Given the description of an element on the screen output the (x, y) to click on. 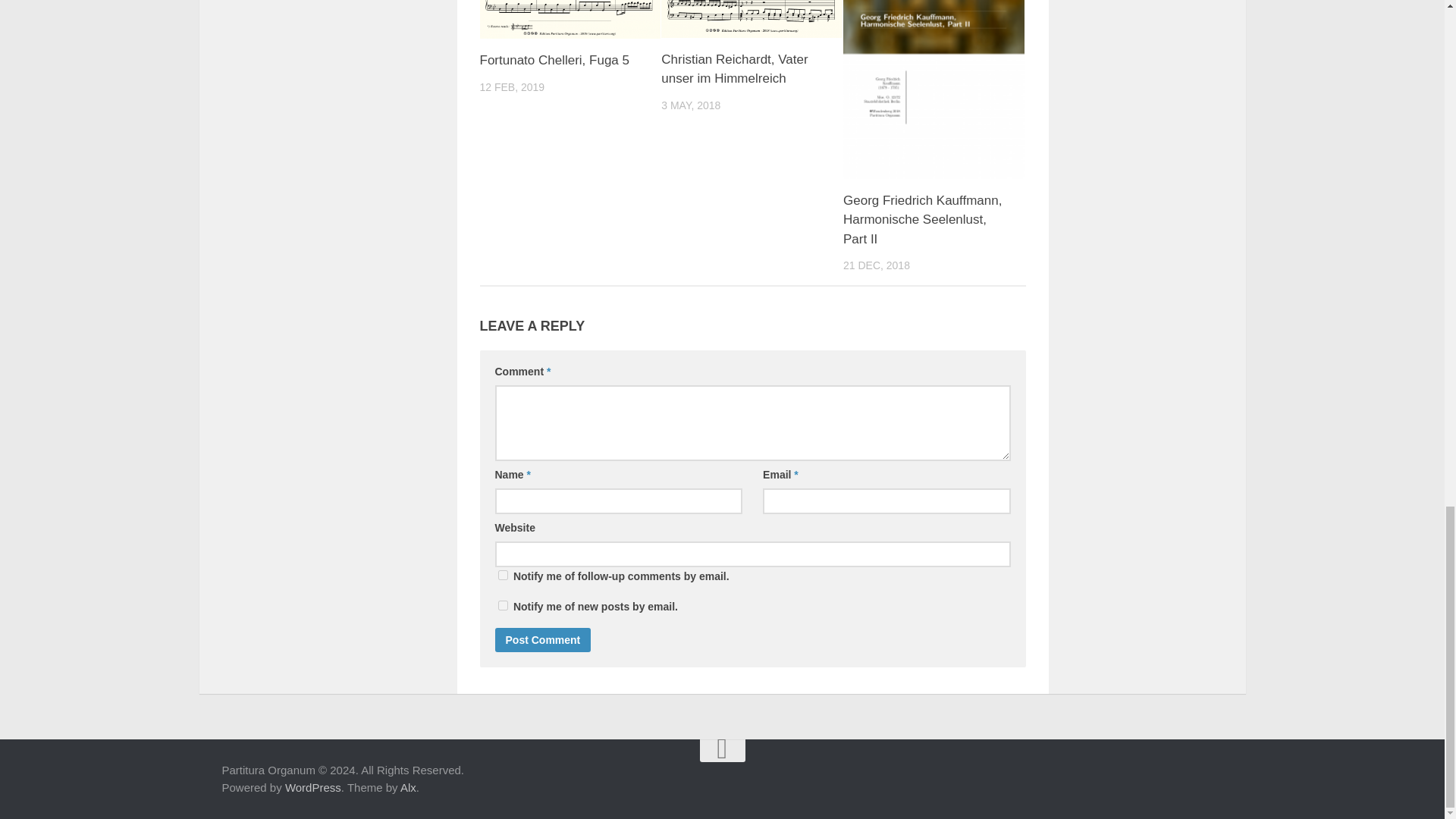
Alx (408, 787)
subscribe (501, 574)
Georg Friedrich Kauffmann, Harmonische Seelenlust, Part II (922, 219)
Fortunato Chelleri, Fuga 5 (553, 60)
Christian Reichardt, Vater unser im Himmelreich (734, 69)
Christian Reichardt, Vater unser im Himmelreich (734, 69)
subscribe (501, 605)
WordPress (312, 787)
Georg Friedrich Kauffmann, Harmonische Seelenlust, Part II (934, 89)
Fortunato Chelleri, Fuga 5 (570, 19)
Post Comment (543, 639)
Fortunato Chelleri, Fuga 5 (553, 60)
Georg Friedrich Kauffmann, Harmonische Seelenlust, Part II (922, 219)
Christian Reichardt, Vater unser im Himmelreich (752, 18)
Post Comment (543, 639)
